Given the description of an element on the screen output the (x, y) to click on. 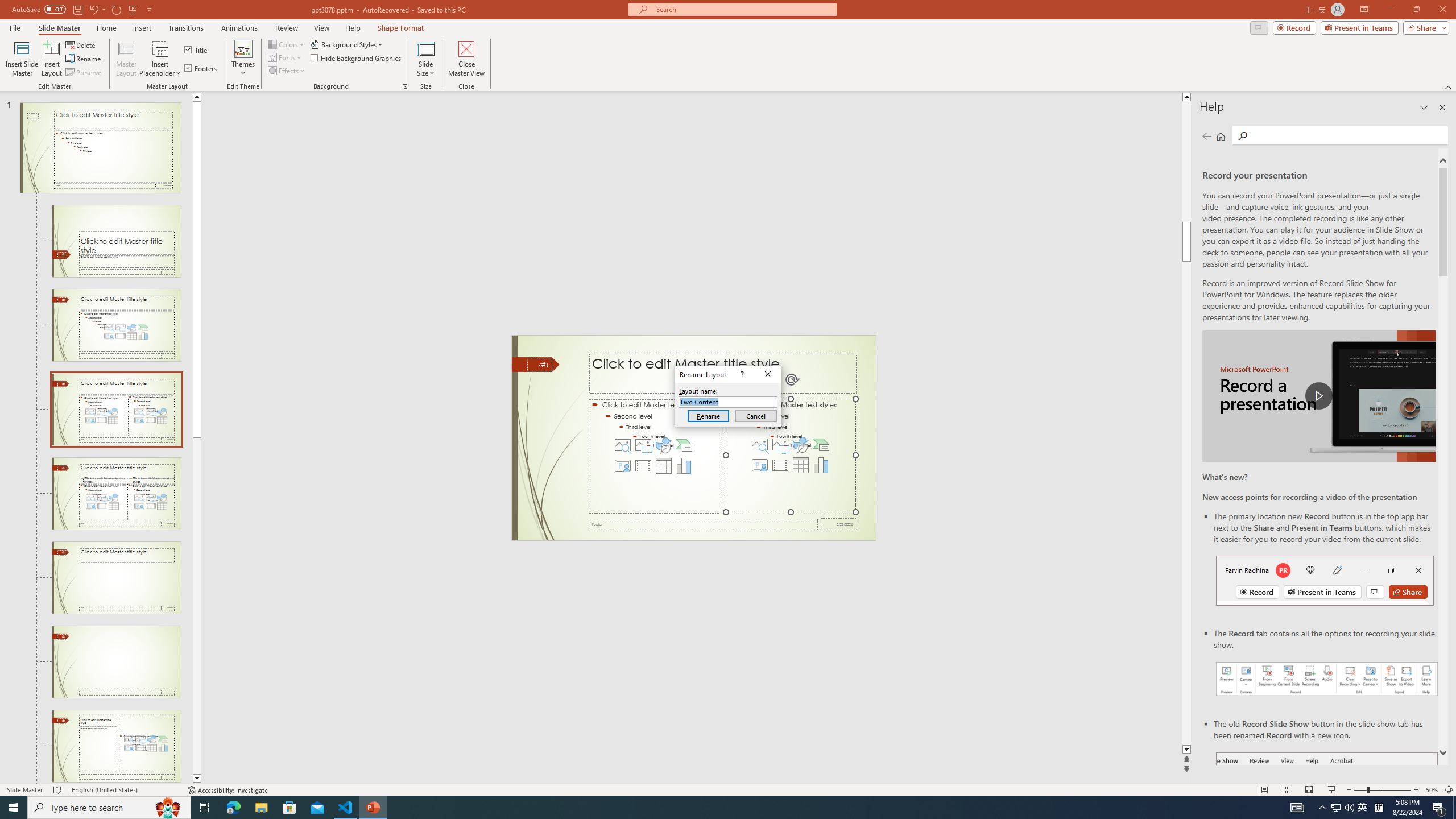
Class: MsoCommandBar (728, 773)
Task Pane Options (1402, 152)
